Given the description of an element on the screen output the (x, y) to click on. 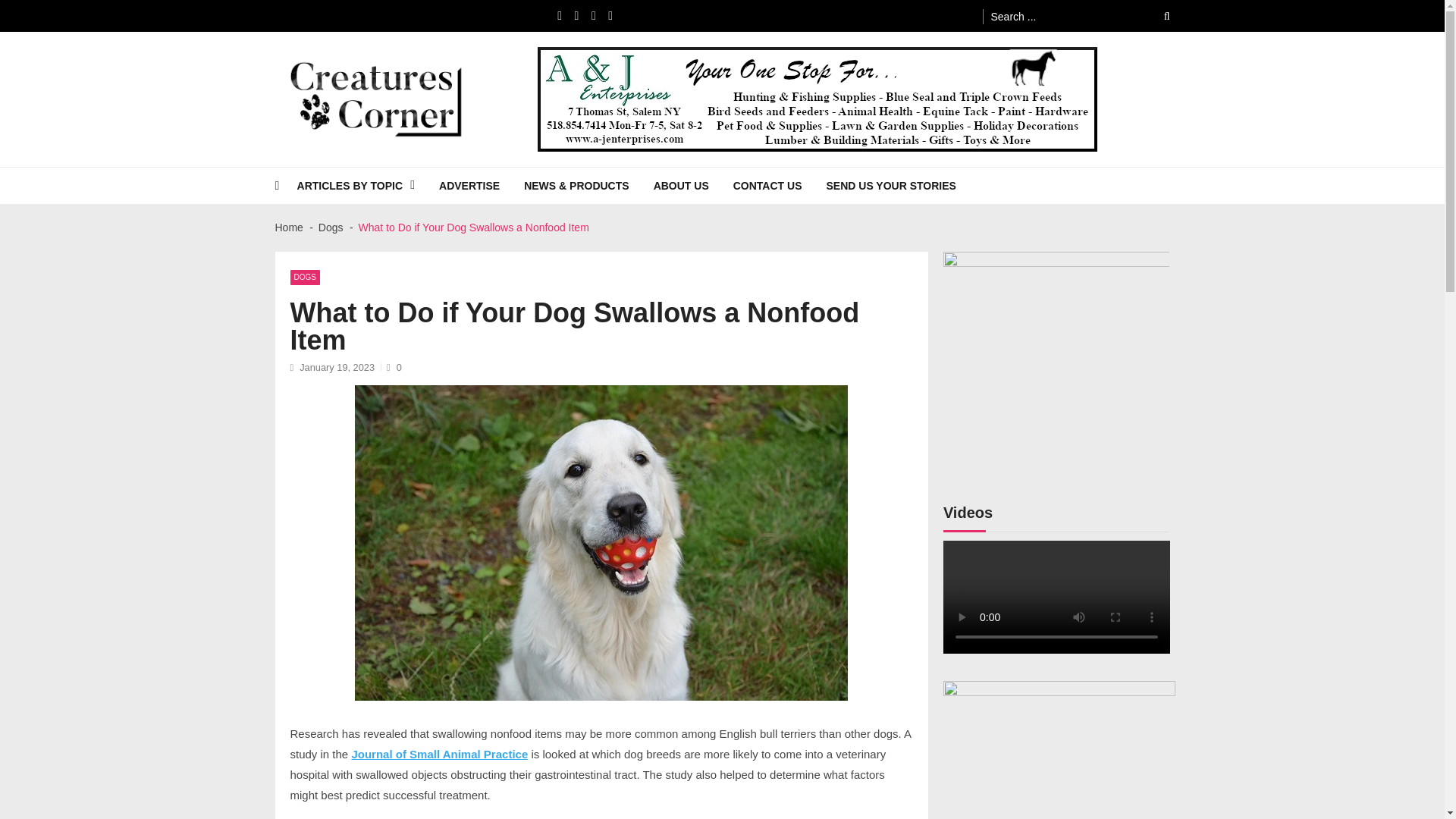
Search (1156, 15)
Search (1156, 15)
Search (1156, 15)
